Given the description of an element on the screen output the (x, y) to click on. 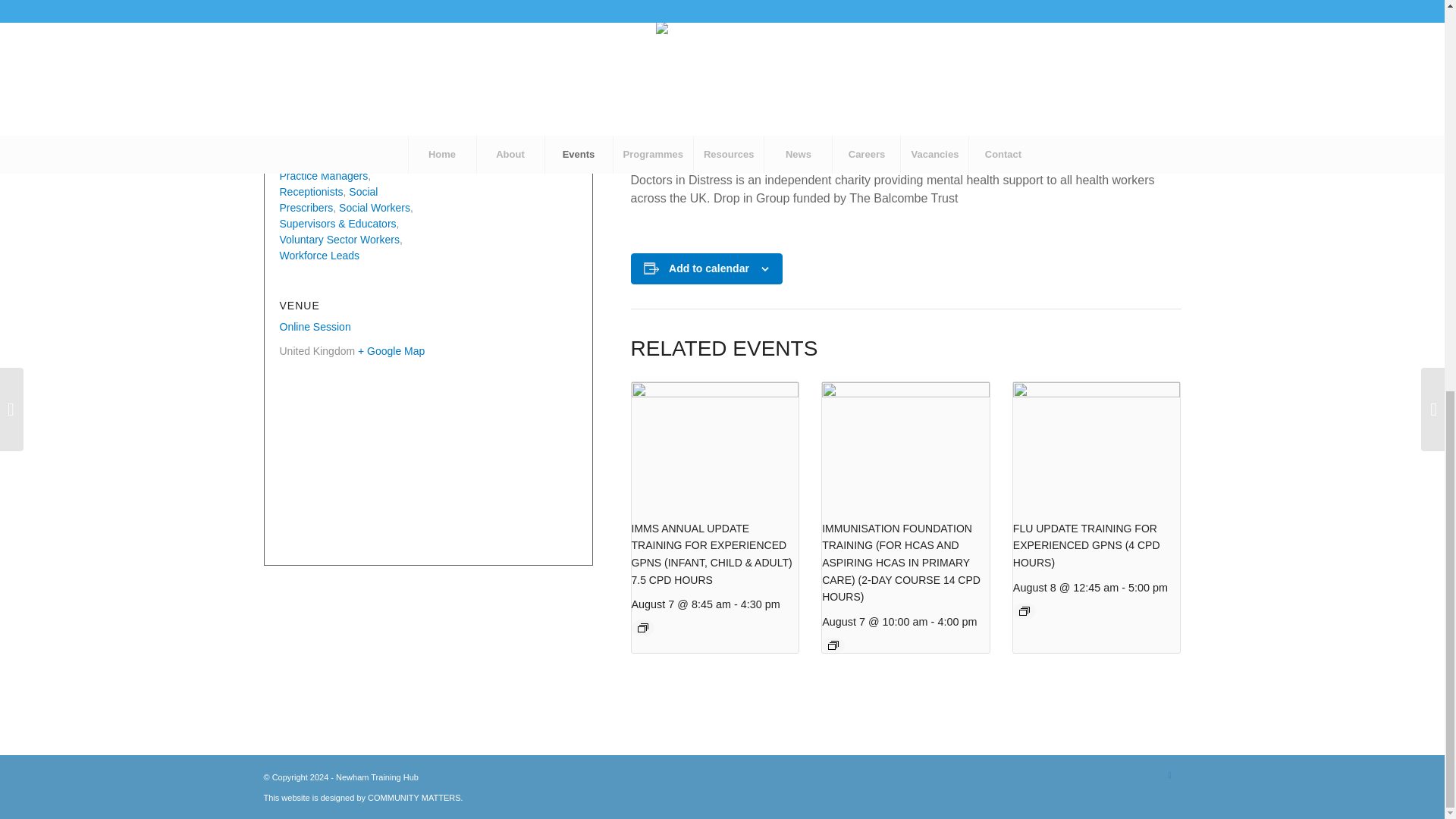
REGISTER NOW (677, 150)
Event Series (642, 627)
Event Series (833, 645)
Event Series (1024, 610)
Mail (1169, 774)
Click to view a Google Map (391, 350)
